Given the description of an element on the screen output the (x, y) to click on. 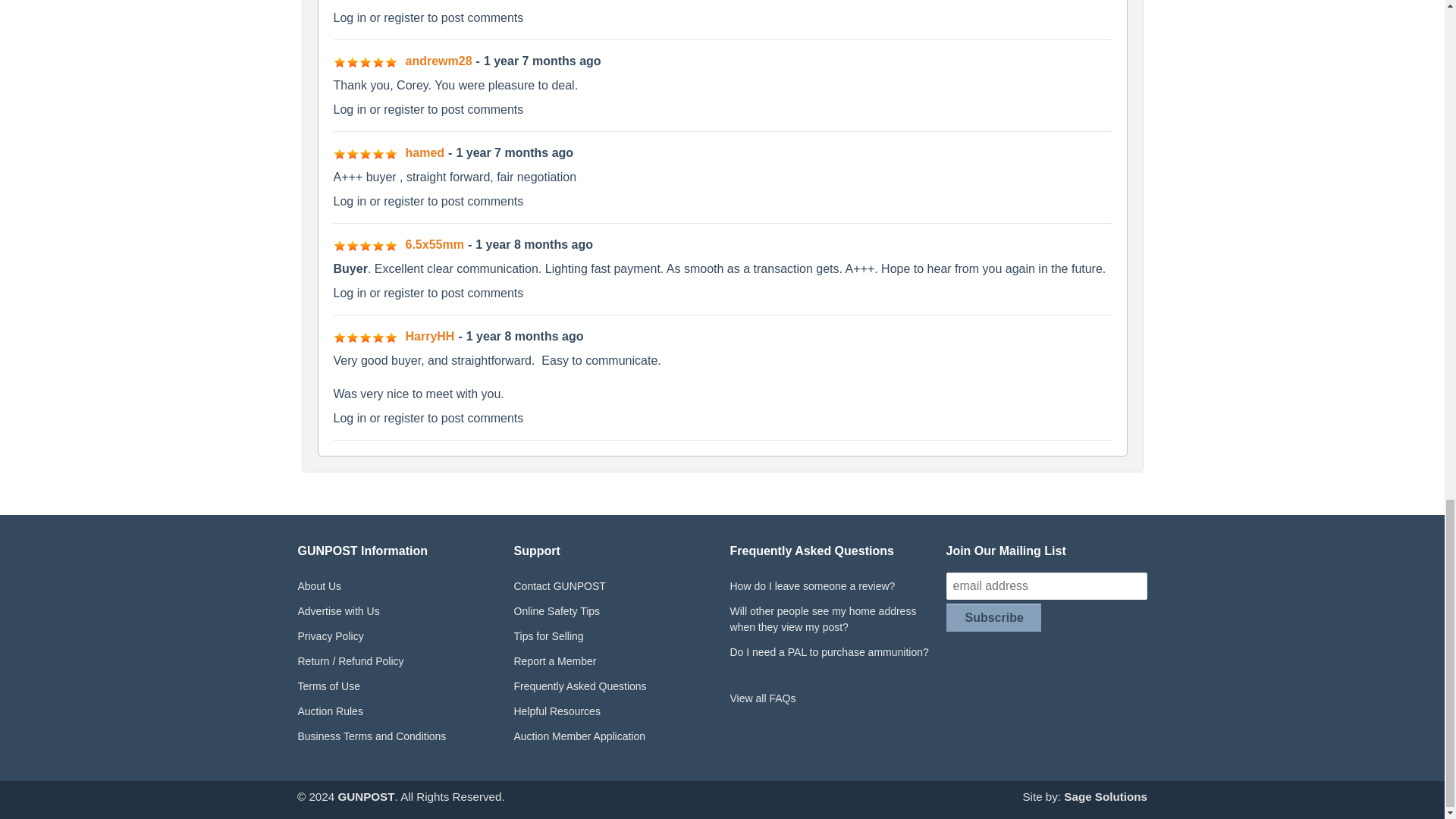
View user profile. (424, 152)
Auction Usage Rules (397, 711)
Subscribe (993, 617)
View user profile. (429, 336)
View user profile. (437, 60)
Terms and Conditions for Business Accounts (397, 736)
Apply for auction permissions here (613, 736)
View user profile. (433, 244)
